Given the description of an element on the screen output the (x, y) to click on. 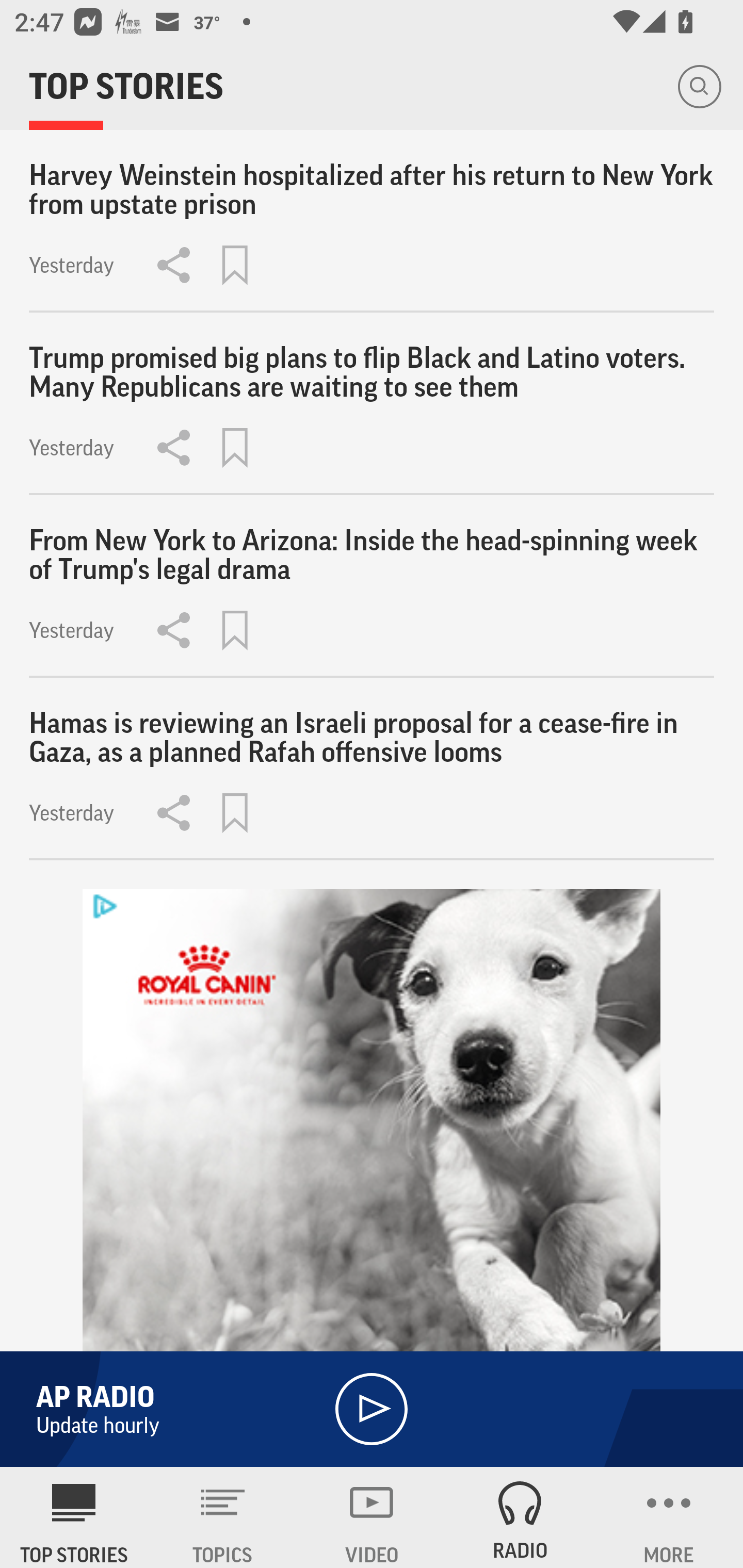
314l1s1f_320x480 (371, 1178)
AP RADIO Update hourly (371, 1409)
AP News TOP STORIES (74, 1517)
TOPICS (222, 1517)
VIDEO (371, 1517)
RADIO (519, 1517)
MORE (668, 1517)
